Given the description of an element on the screen output the (x, y) to click on. 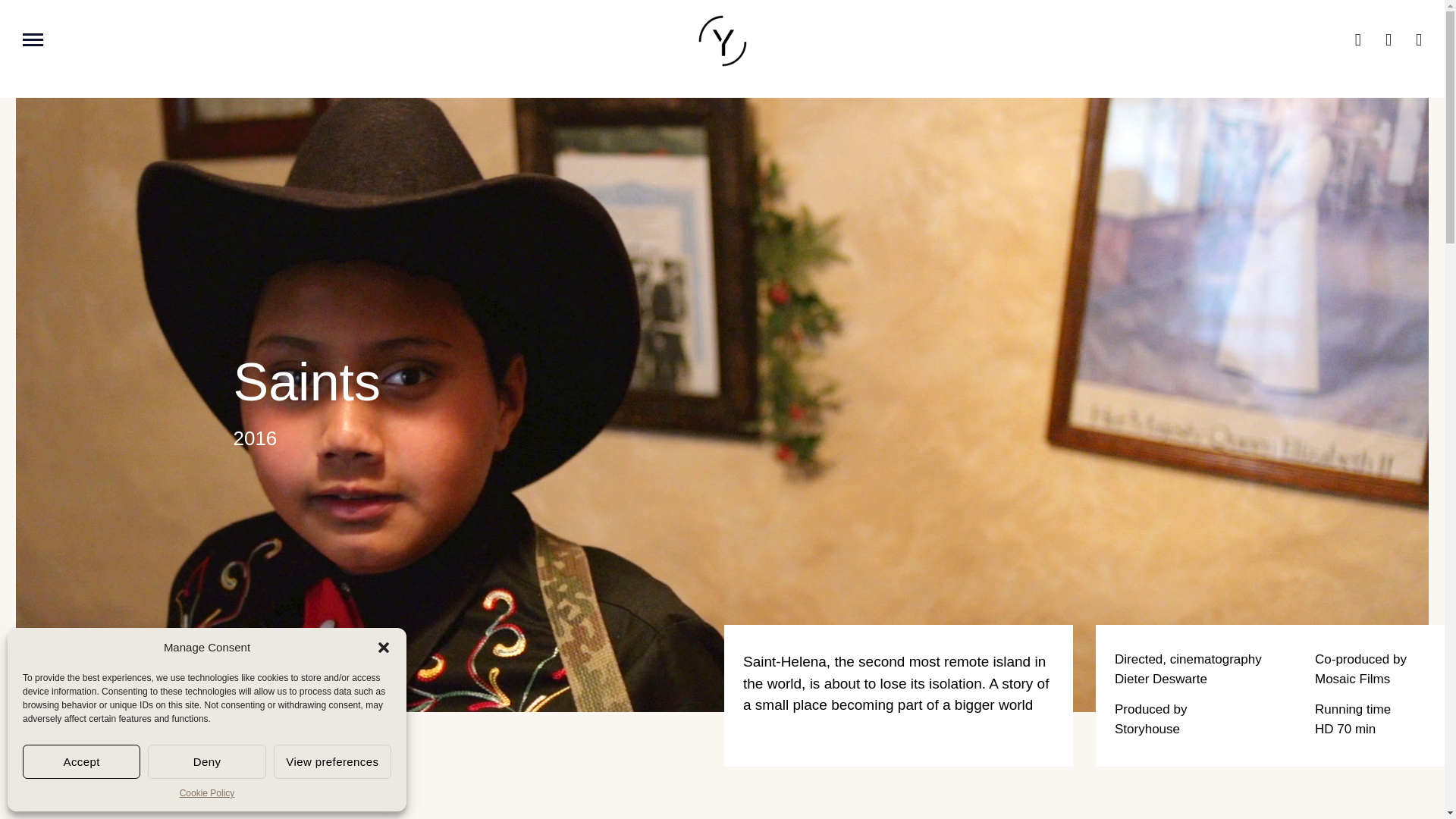
Accept (81, 761)
View preferences (332, 761)
Yarrow Films (721, 40)
instagram (1406, 41)
Deny (206, 761)
Cookie Policy (206, 793)
twitter (1376, 41)
